Given the description of an element on the screen output the (x, y) to click on. 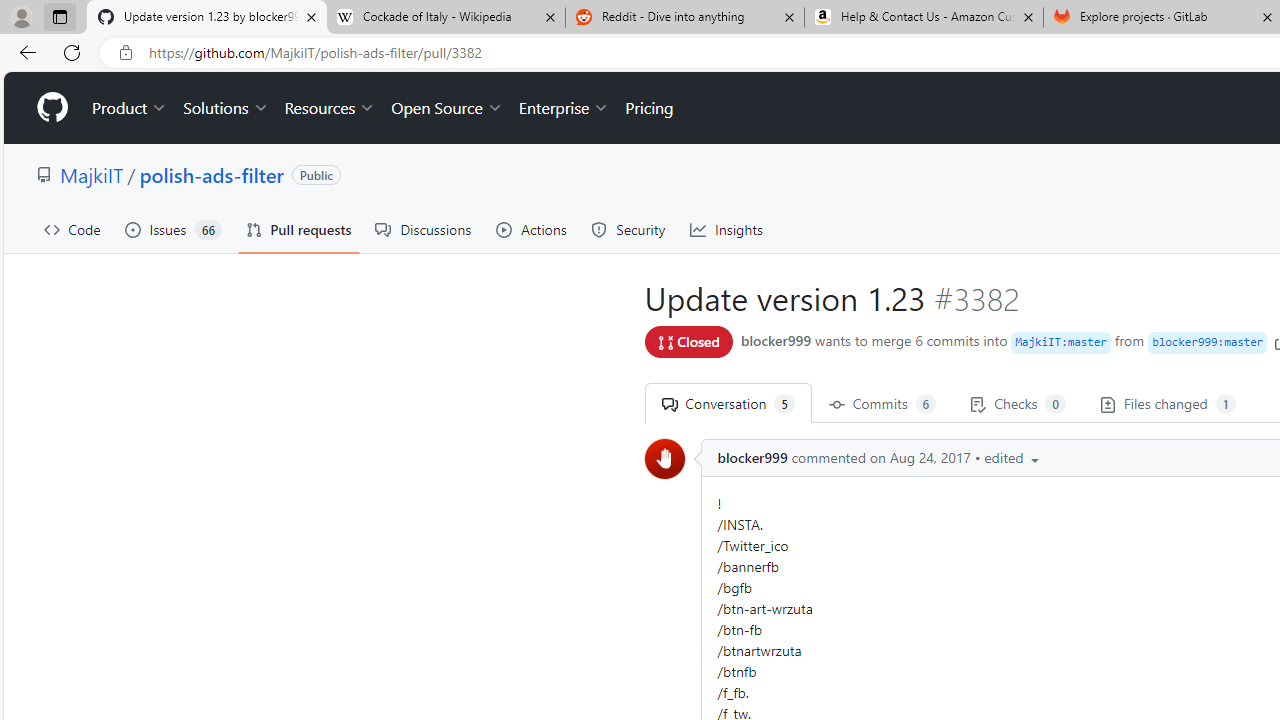
Solutions (225, 107)
Resources (330, 107)
Issues66 (173, 229)
Code (71, 229)
edited  (1014, 457)
Pricing (649, 107)
Product (130, 107)
Open Source (446, 107)
Enterprise (563, 107)
blocker999 (752, 457)
blocker999 (663, 458)
